Given the description of an element on the screen output the (x, y) to click on. 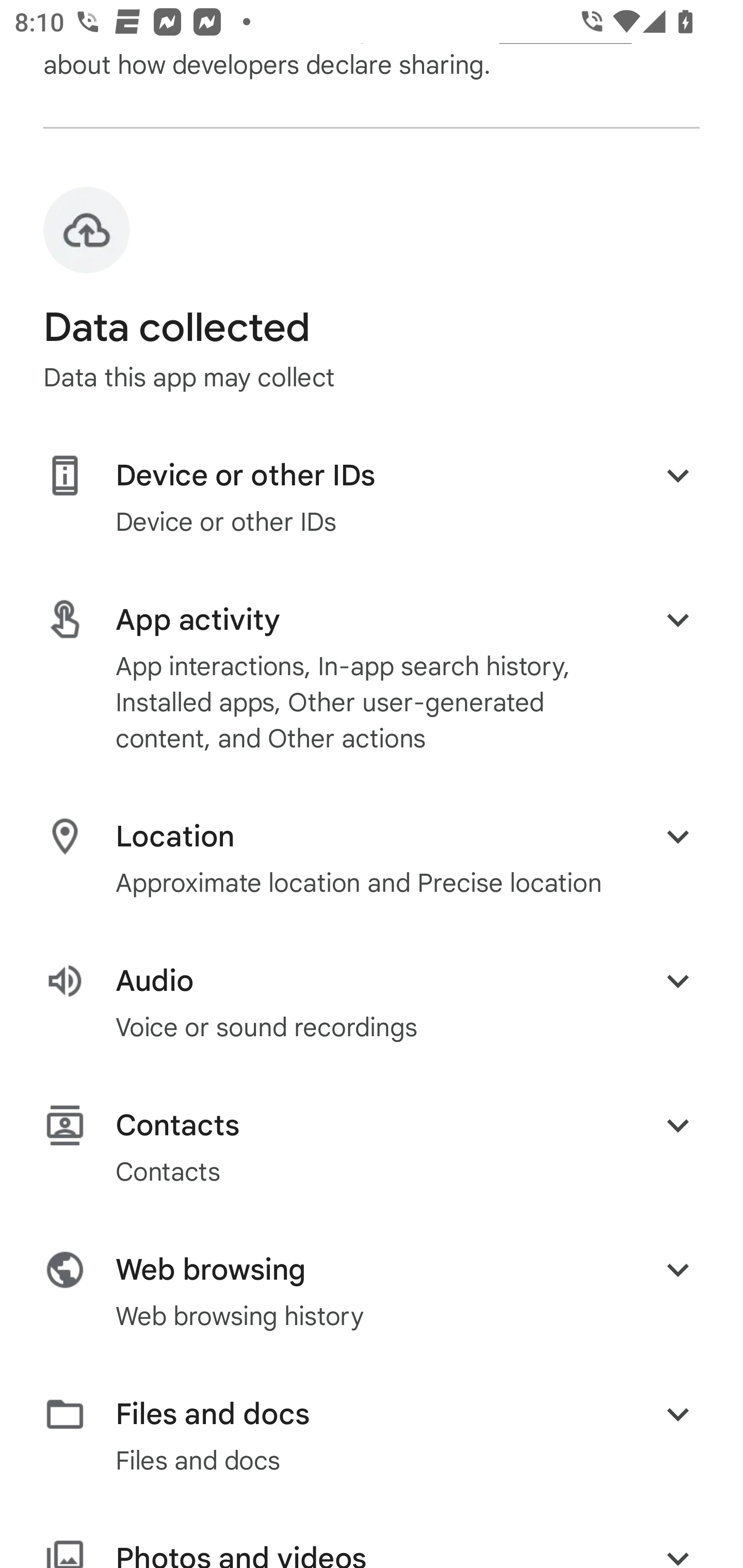
heading Contacts Contacts Expand button (371, 1146)
heading Photos and videos Expand button (371, 1552)
